Given the description of an element on the screen output the (x, y) to click on. 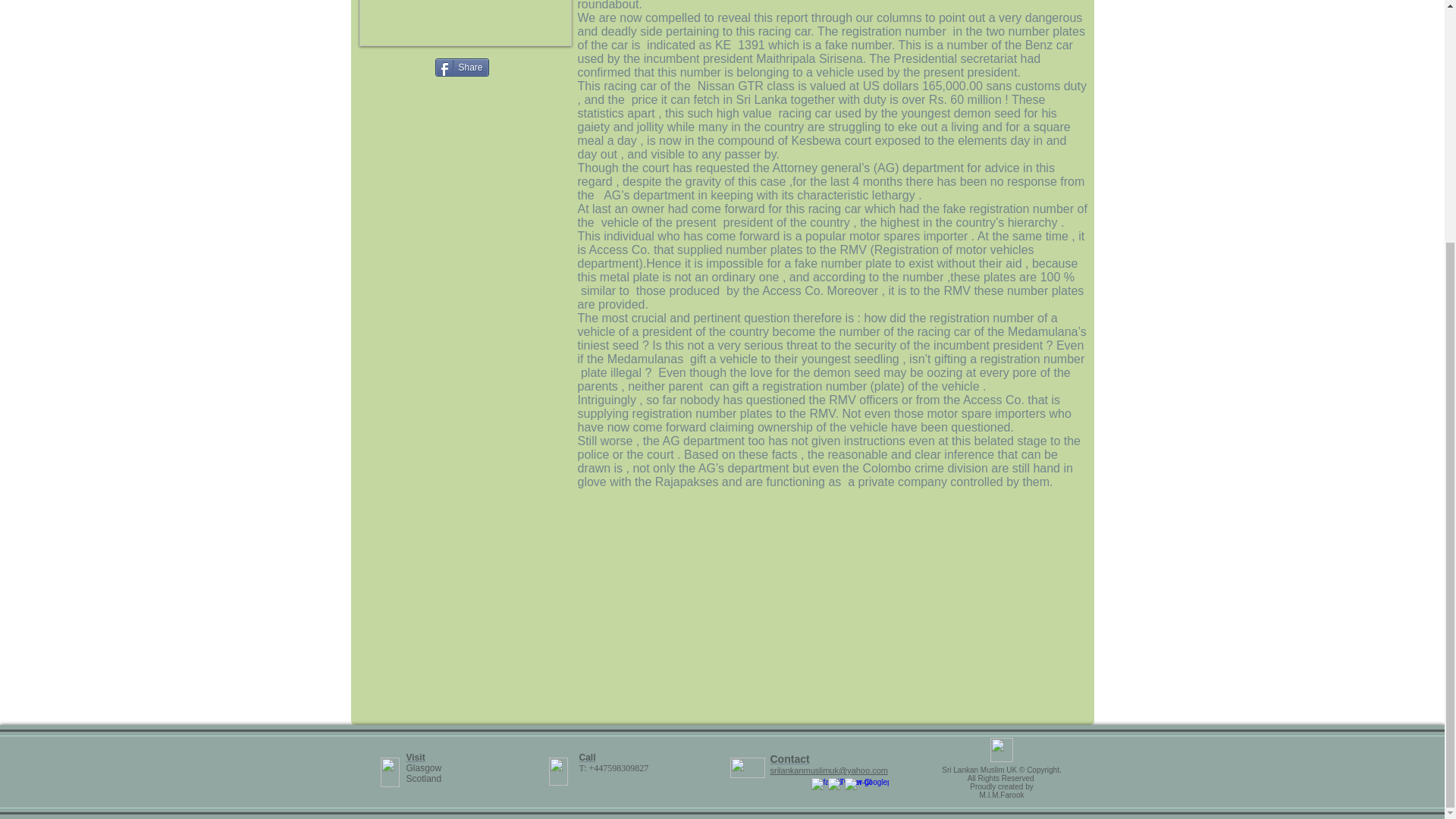
Share (462, 67)
Twitter Tweet (397, 65)
